Given the description of an element on the screen output the (x, y) to click on. 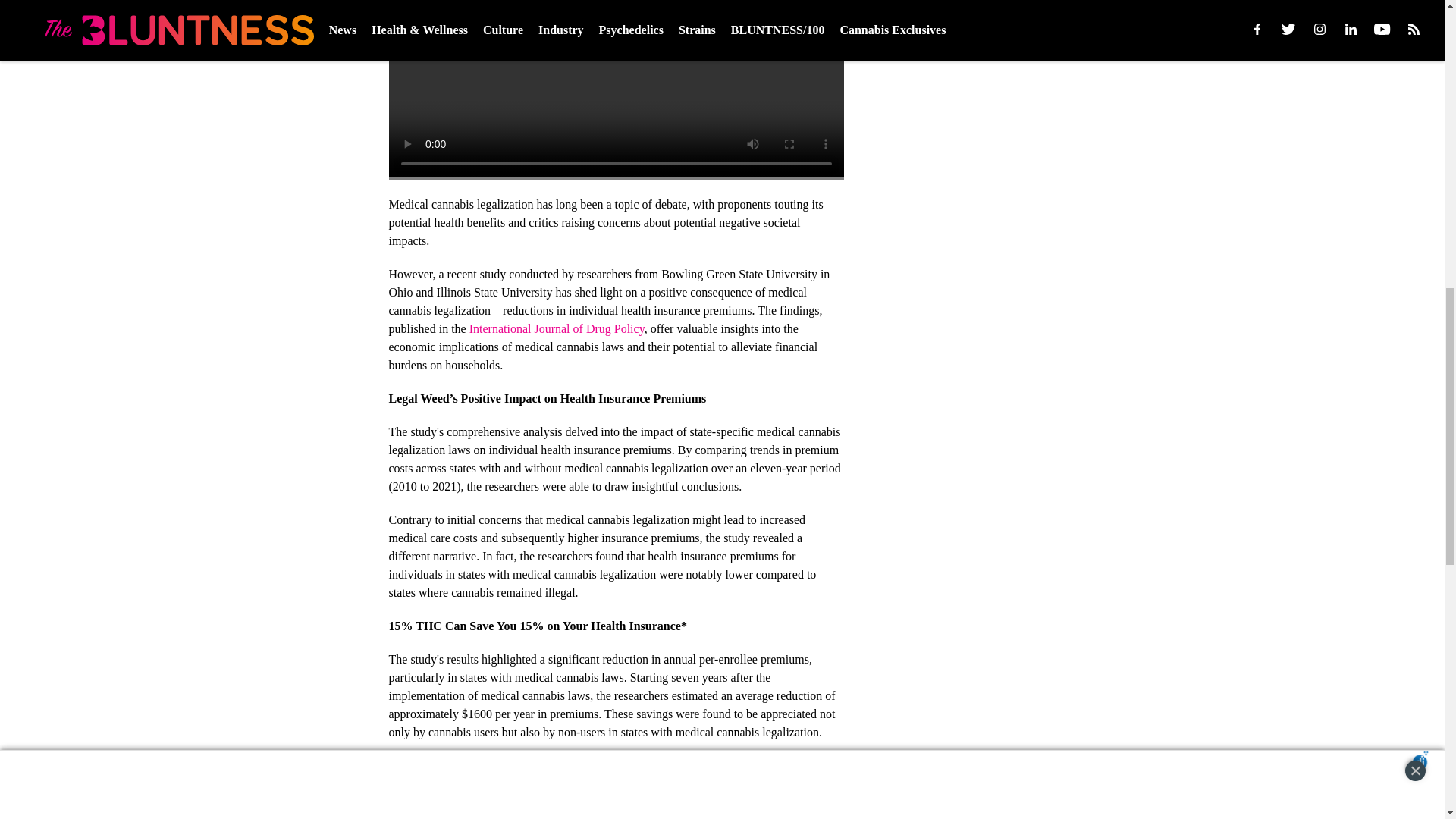
International Journal of Drug Policy (556, 327)
